Given the description of an element on the screen output the (x, y) to click on. 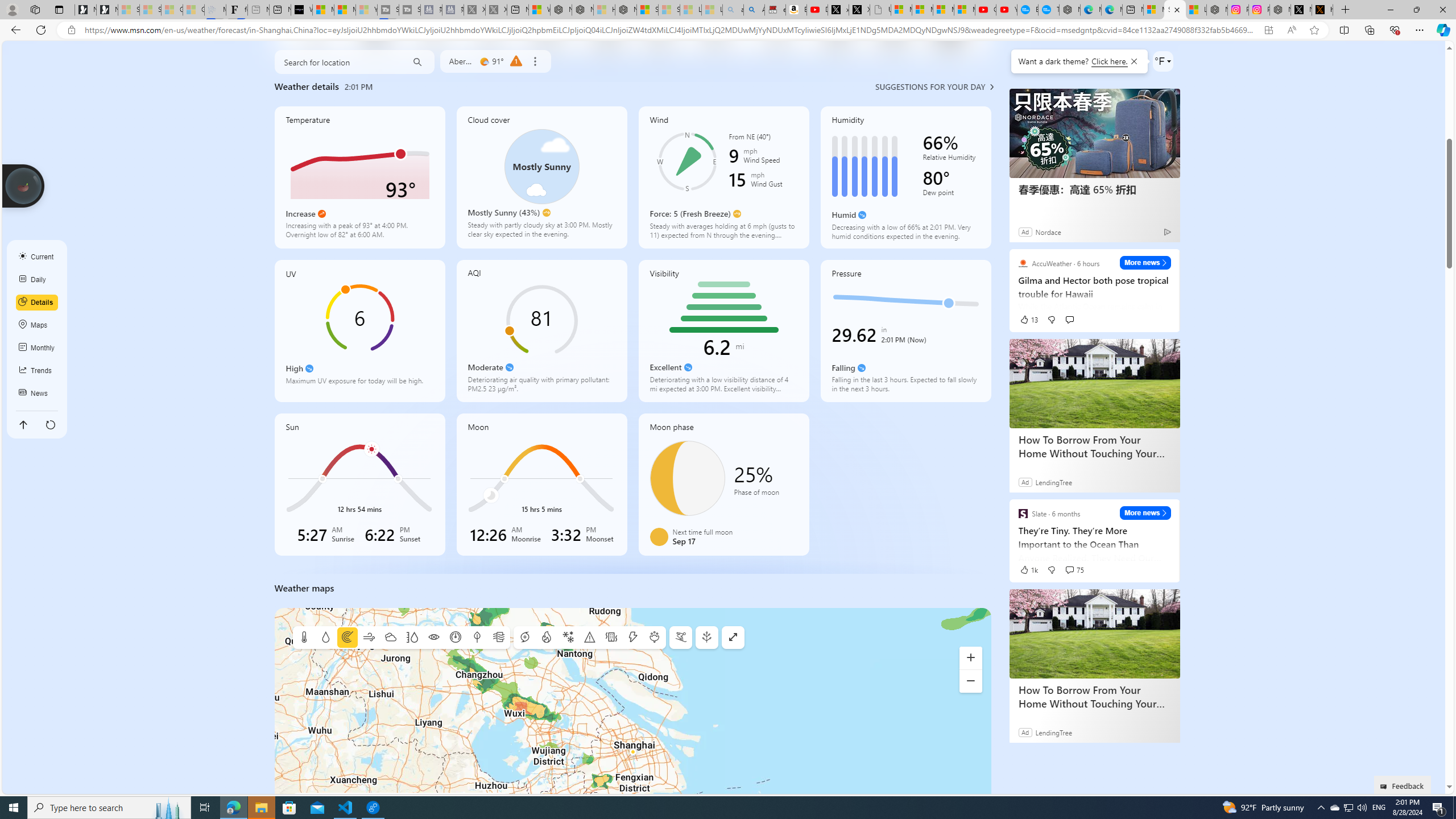
Weather settings (1162, 61)
Earthquake (610, 637)
Temperature (304, 637)
Aberdeen (461, 61)
Nordace (@NordaceOfficial) / X (1300, 9)
Winter weather (567, 637)
The most popular Google 'how to' searches (1048, 9)
